Given the description of an element on the screen output the (x, y) to click on. 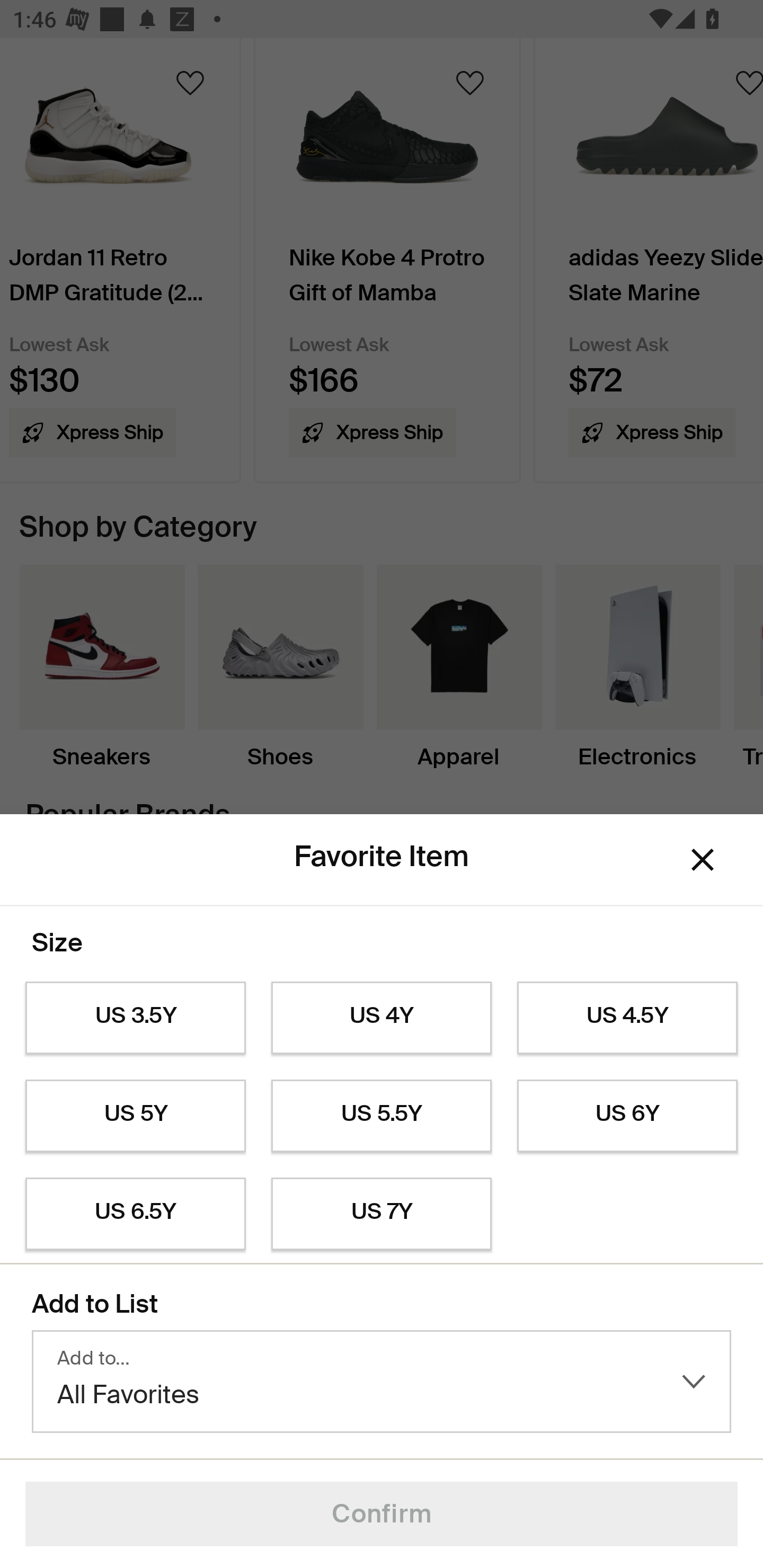
Dismiss (702, 859)
US 3.5Y (135, 1018)
US 4Y (381, 1018)
US 4.5Y (627, 1018)
US 5Y (135, 1116)
US 5.5Y (381, 1116)
US 6Y (627, 1116)
US 6.5Y (135, 1214)
US 7Y (381, 1214)
Add to… All Favorites (381, 1381)
Confirm (381, 1513)
